Given the description of an element on the screen output the (x, y) to click on. 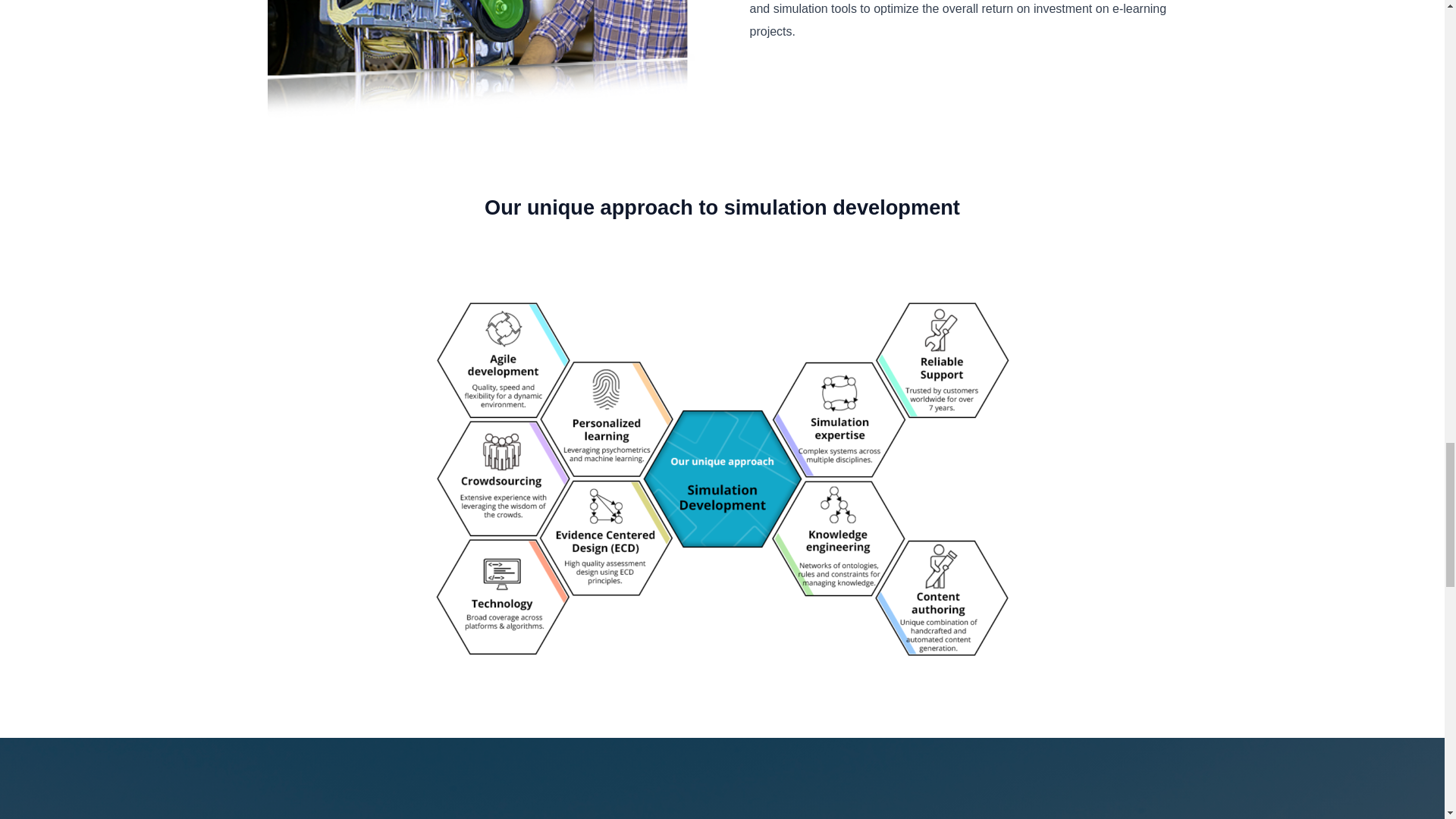
Industrial-Training-Simulations (480, 58)
